Given the description of an element on the screen output the (x, y) to click on. 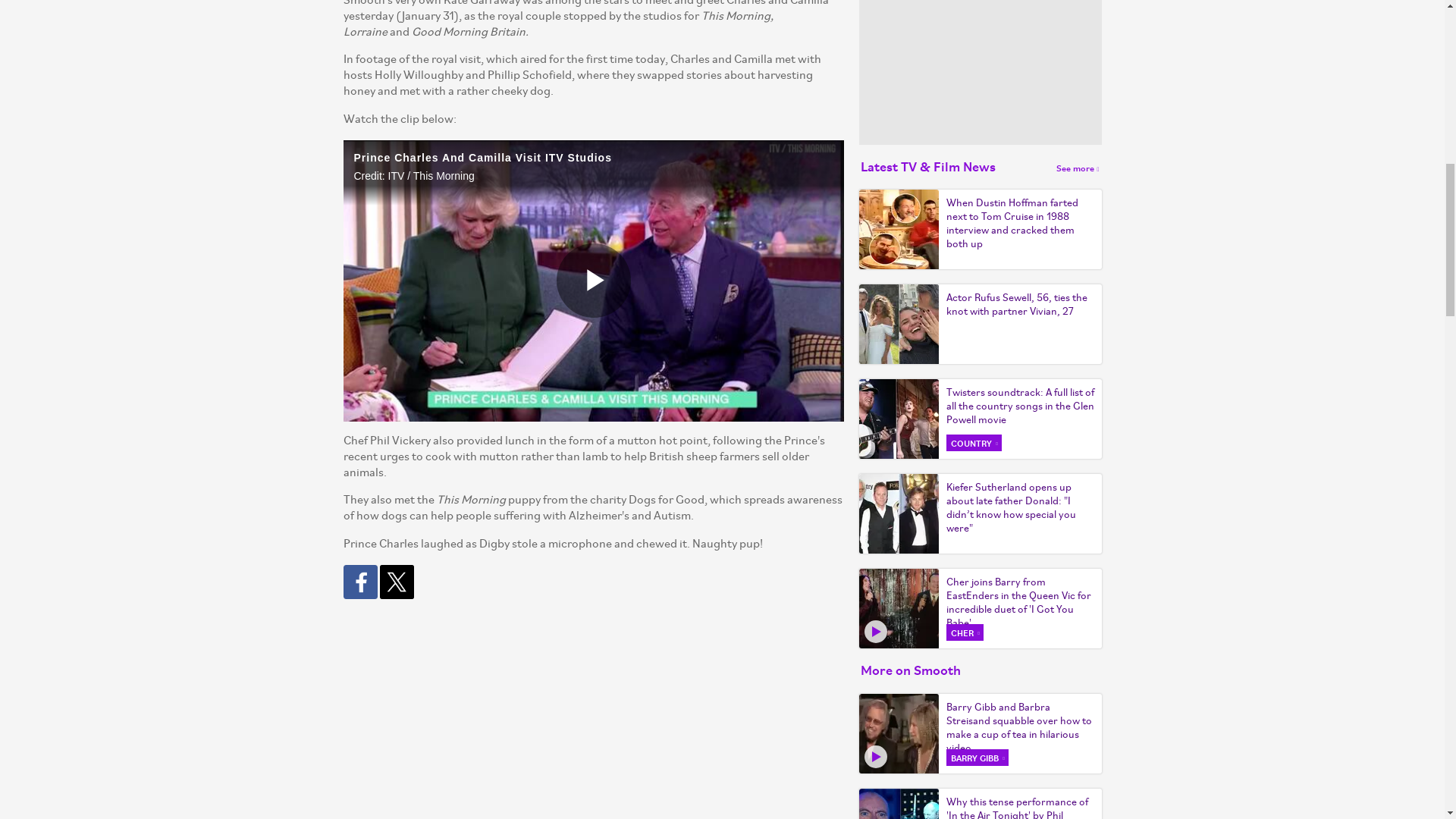
Play Video (593, 280)
